Given the description of an element on the screen output the (x, y) to click on. 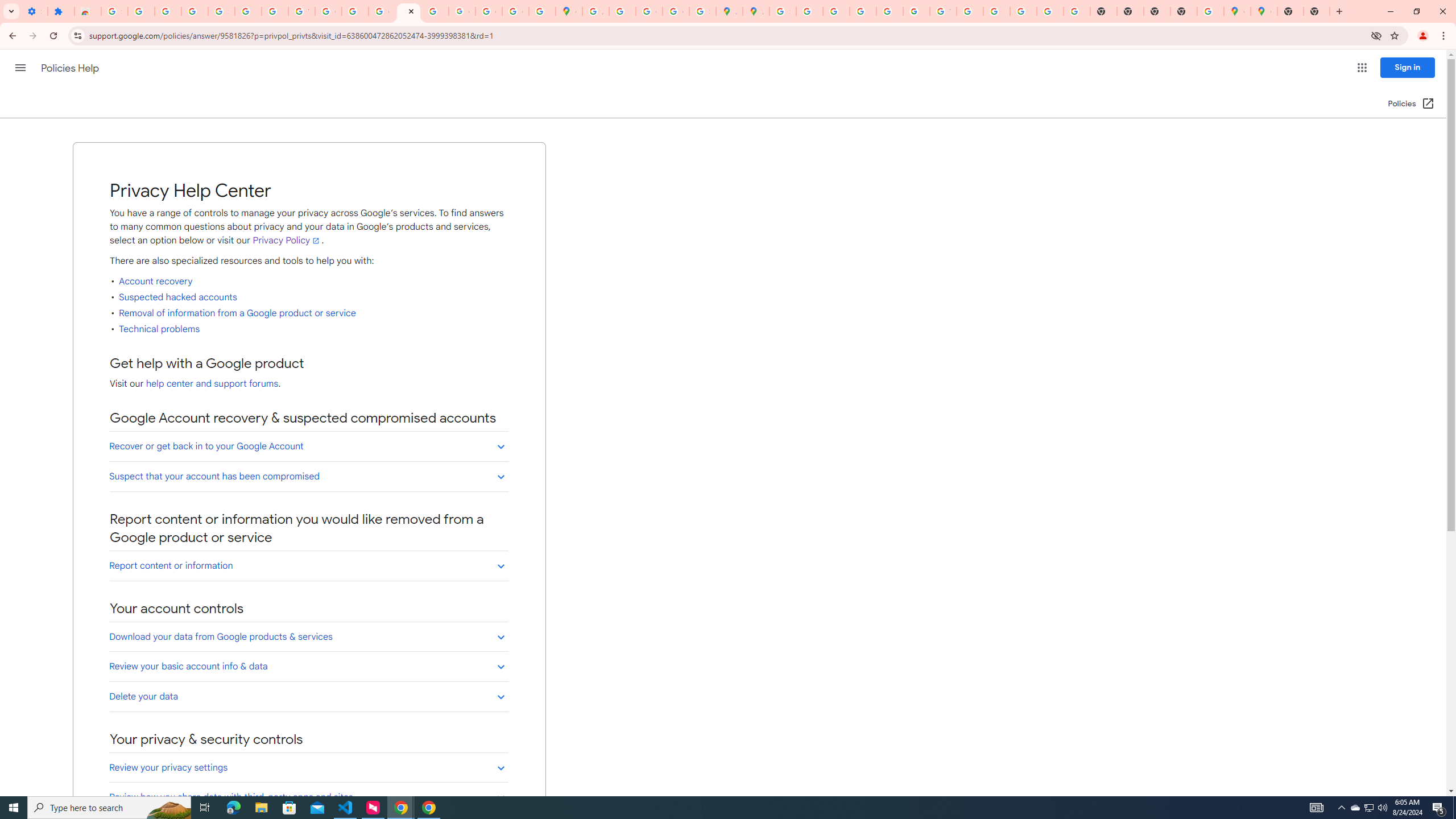
Technical problems (159, 328)
Settings - On startup (34, 11)
YouTube (943, 11)
Reviews: Helix Fruit Jump Arcade Game (87, 11)
